Given the description of an element on the screen output the (x, y) to click on. 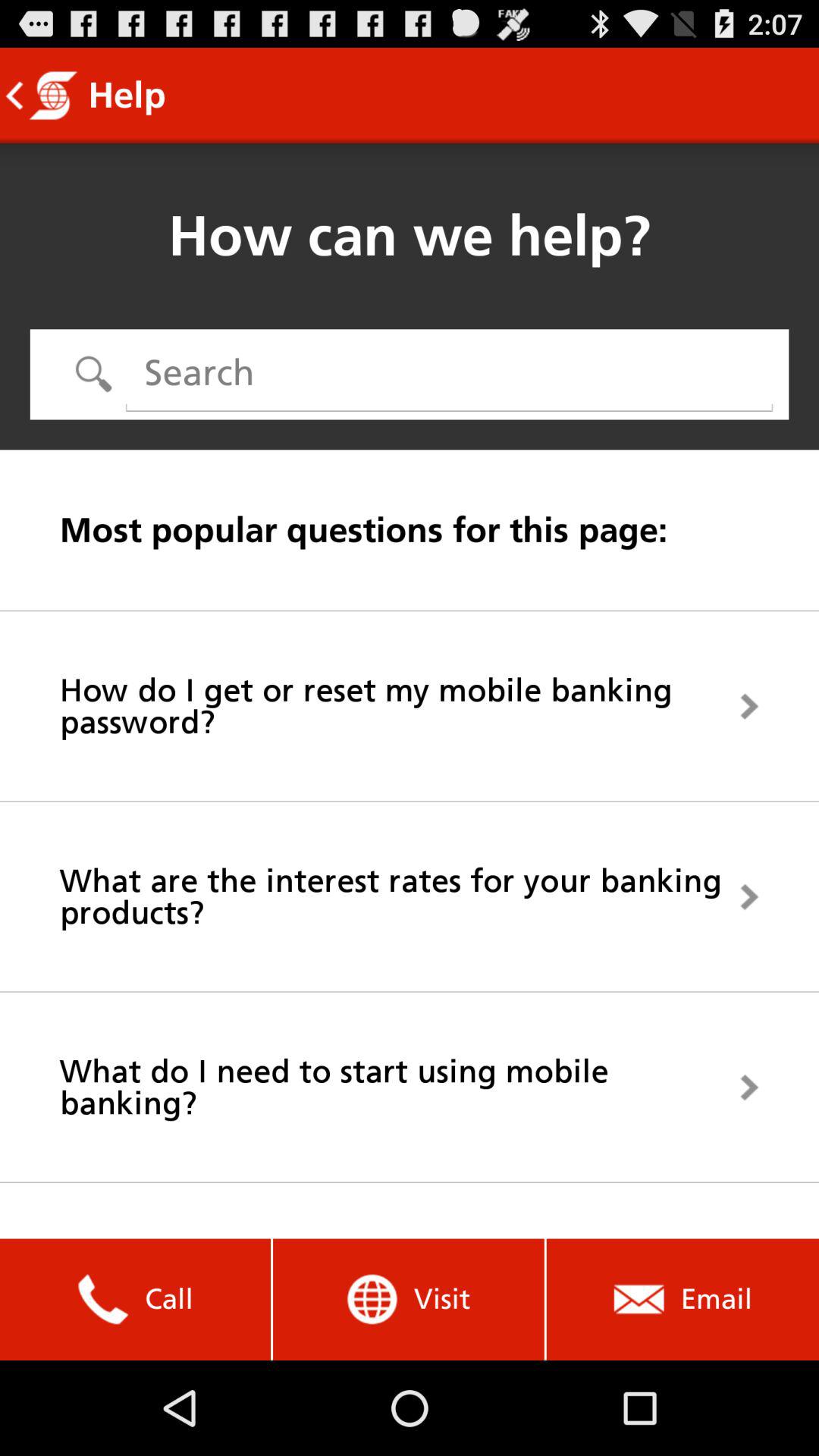
launch what are the icon (409, 896)
